Given the description of an element on the screen output the (x, y) to click on. 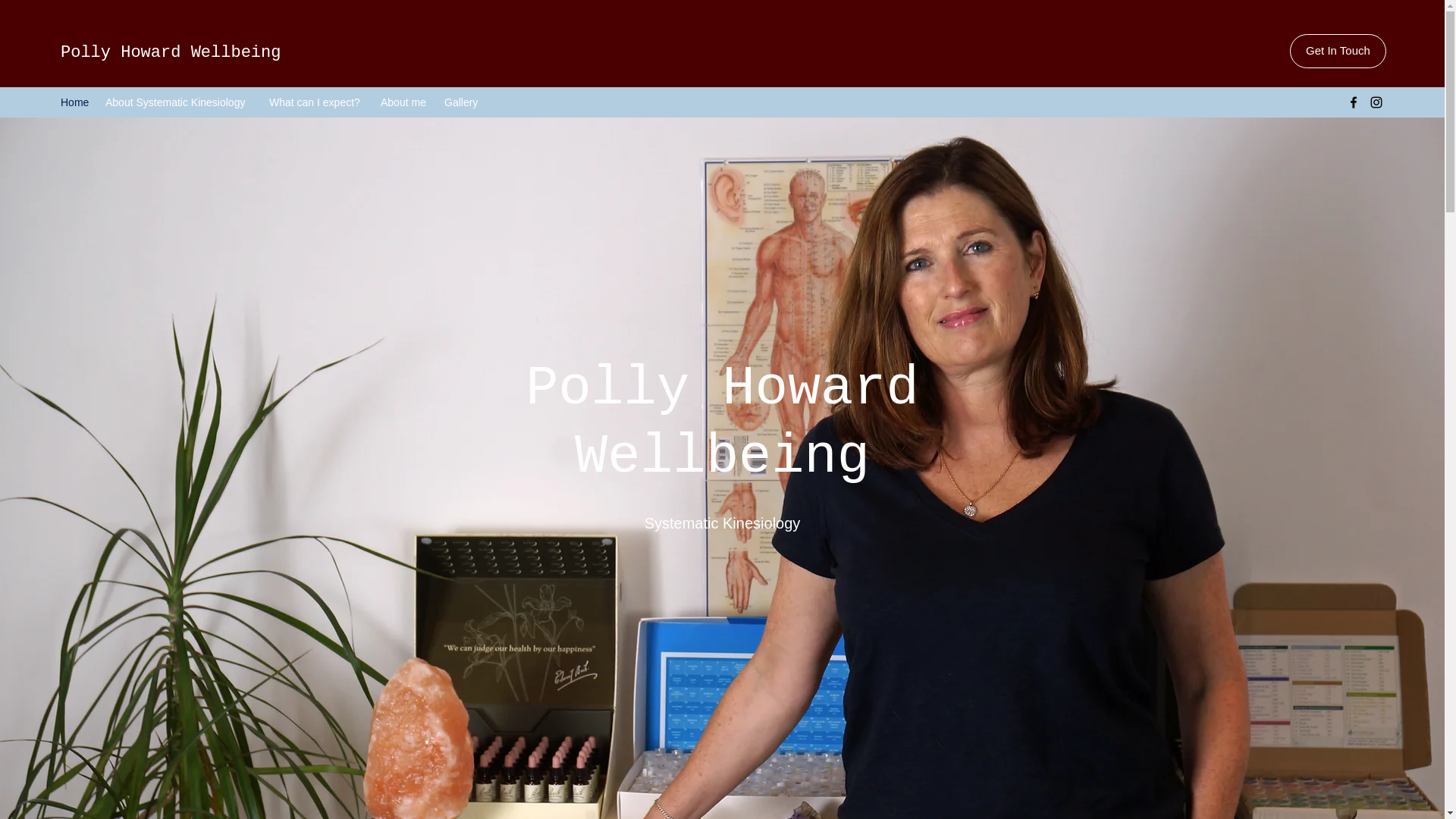
What can I expect? (317, 101)
About Systematic Kinesiology (179, 101)
Polly Howard Wellbeing (171, 52)
Home (74, 101)
Gallery (461, 101)
Get In Touch (1338, 50)
About me (404, 101)
